Given the description of an element on the screen output the (x, y) to click on. 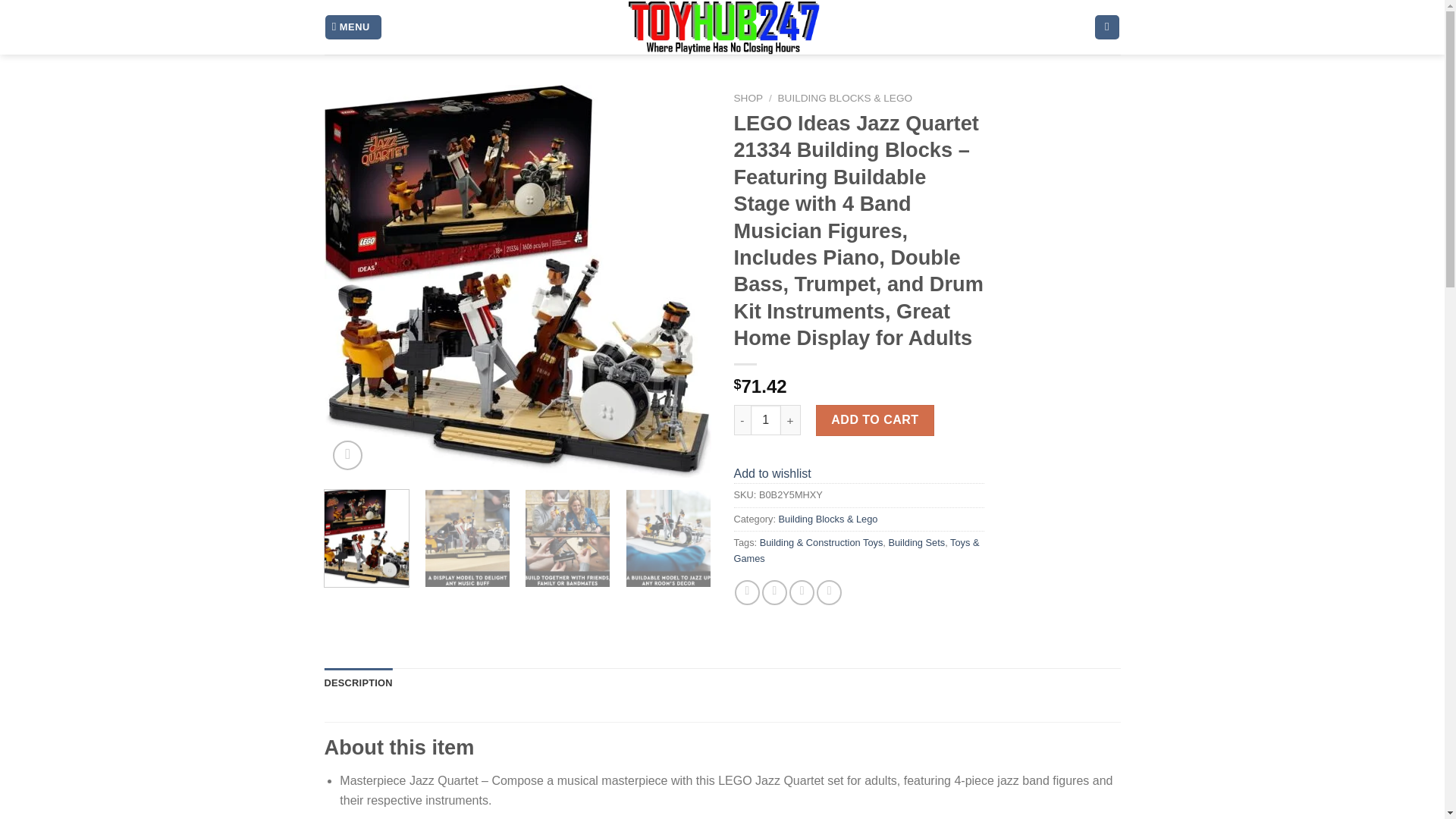
Email to a Friend (801, 592)
Share on Facebook (747, 592)
Zoom (347, 455)
ADD TO CART (874, 419)
SHOP (747, 98)
ToyHub247.com - Where Playtime Has No Closing Hours! (722, 27)
MENU (352, 27)
1 (765, 419)
Cart (1106, 27)
Add to wishlist (771, 472)
